Given the description of an element on the screen output the (x, y) to click on. 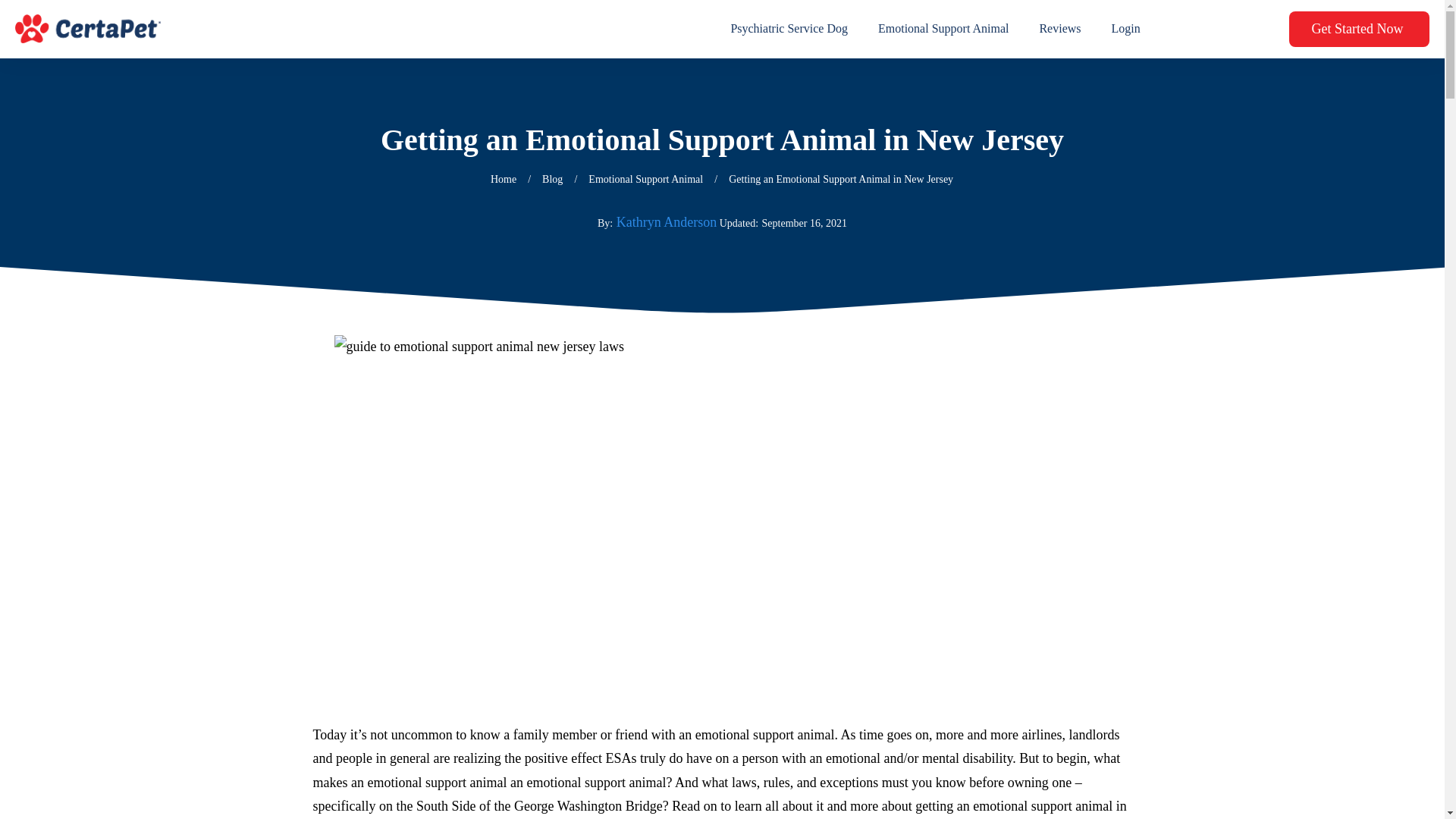
Kathryn Anderson (665, 222)
Home (503, 179)
Emotional Support Animal (943, 28)
Blog (551, 179)
Get Started Now  (1358, 28)
Psychiatric Service Dog (788, 28)
Kathryn Anderson (665, 222)
Emotional Support Animal (645, 179)
Reviews (1059, 28)
Login (1126, 28)
